Given the description of an element on the screen output the (x, y) to click on. 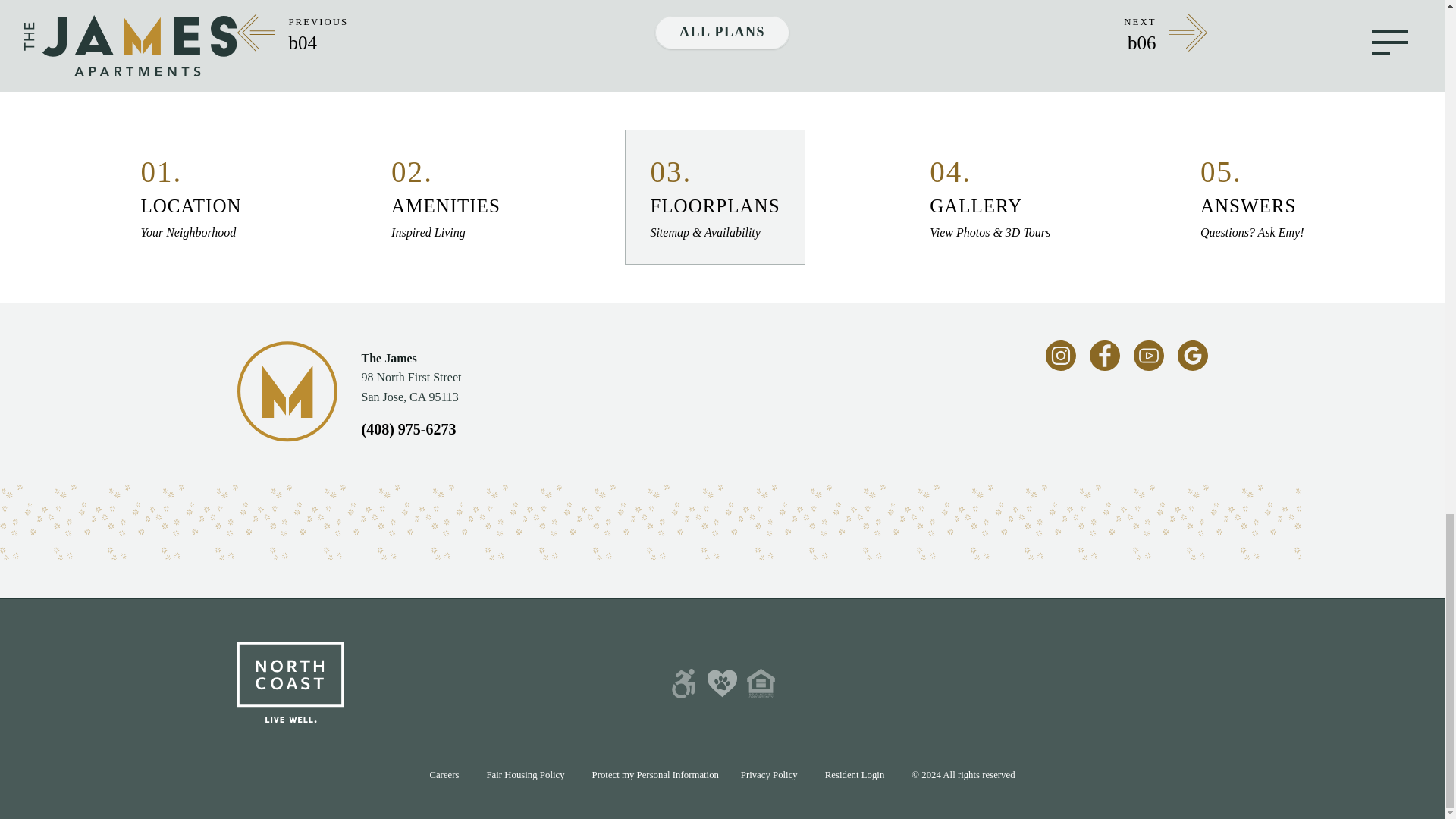
Marketing Agency Logo (288, 684)
ALL PLANS (722, 32)
google Icon (1191, 355)
instagram Icon (1060, 365)
Careers (1251, 196)
Protect my Personal Information         Privacy Policy (445, 196)
google Icon (443, 775)
Fair Housing Policy (694, 775)
facebook Icon (1191, 365)
The James (525, 775)
Resident Login (1104, 365)
